Given the description of an element on the screen output the (x, y) to click on. 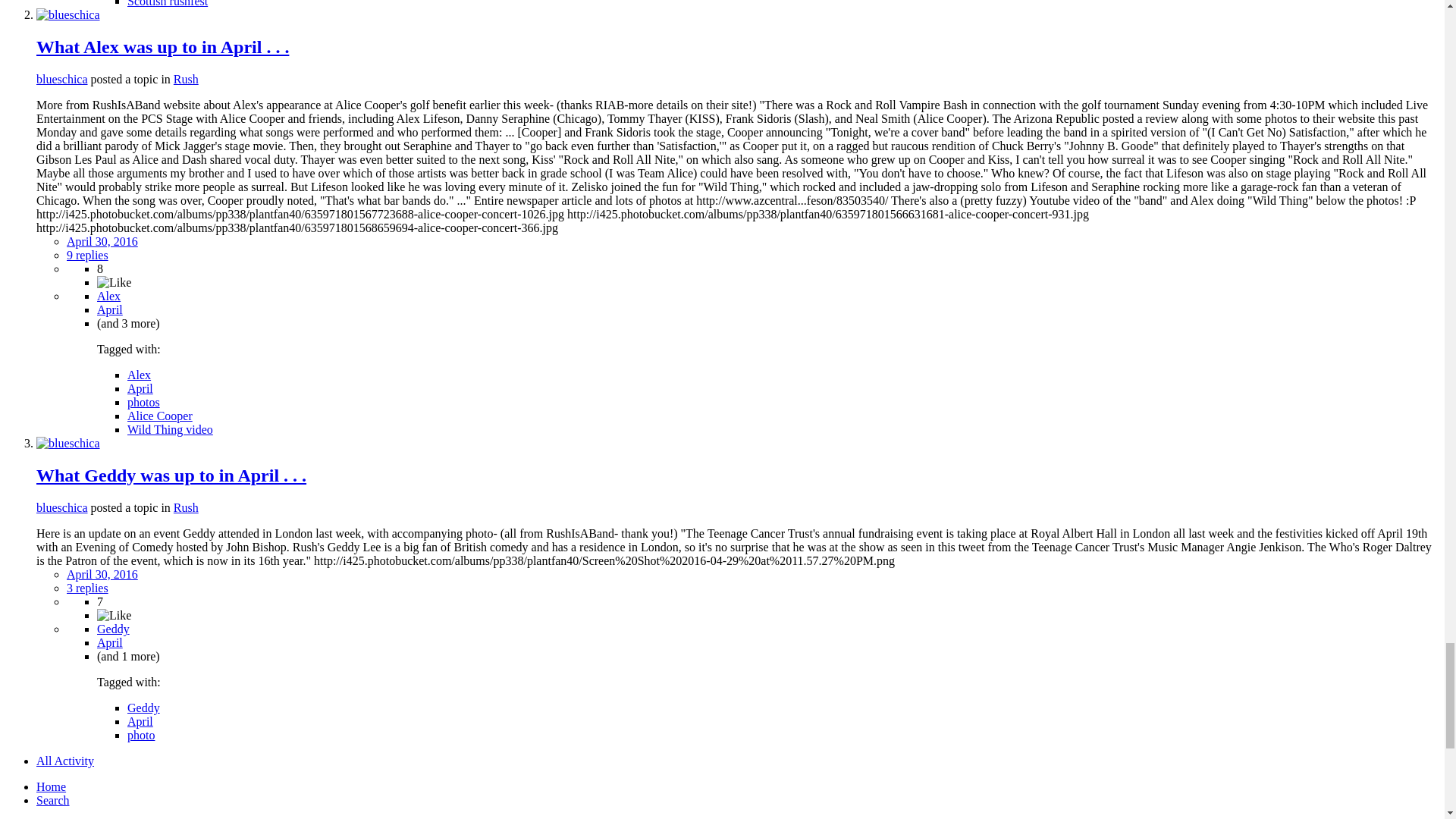
Find other content tagged with 'Scottish rushfest' (168, 3)
Go to blueschica's profile (61, 78)
Like (114, 282)
Go to blueschica's profile (68, 14)
